Given the description of an element on the screen output the (x, y) to click on. 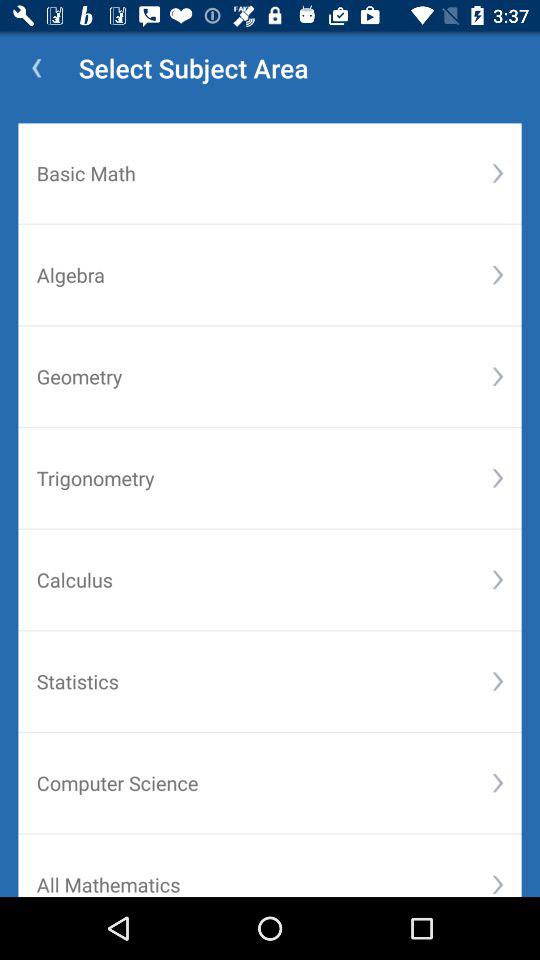
swipe to the computer science item (264, 782)
